Given the description of an element on the screen output the (x, y) to click on. 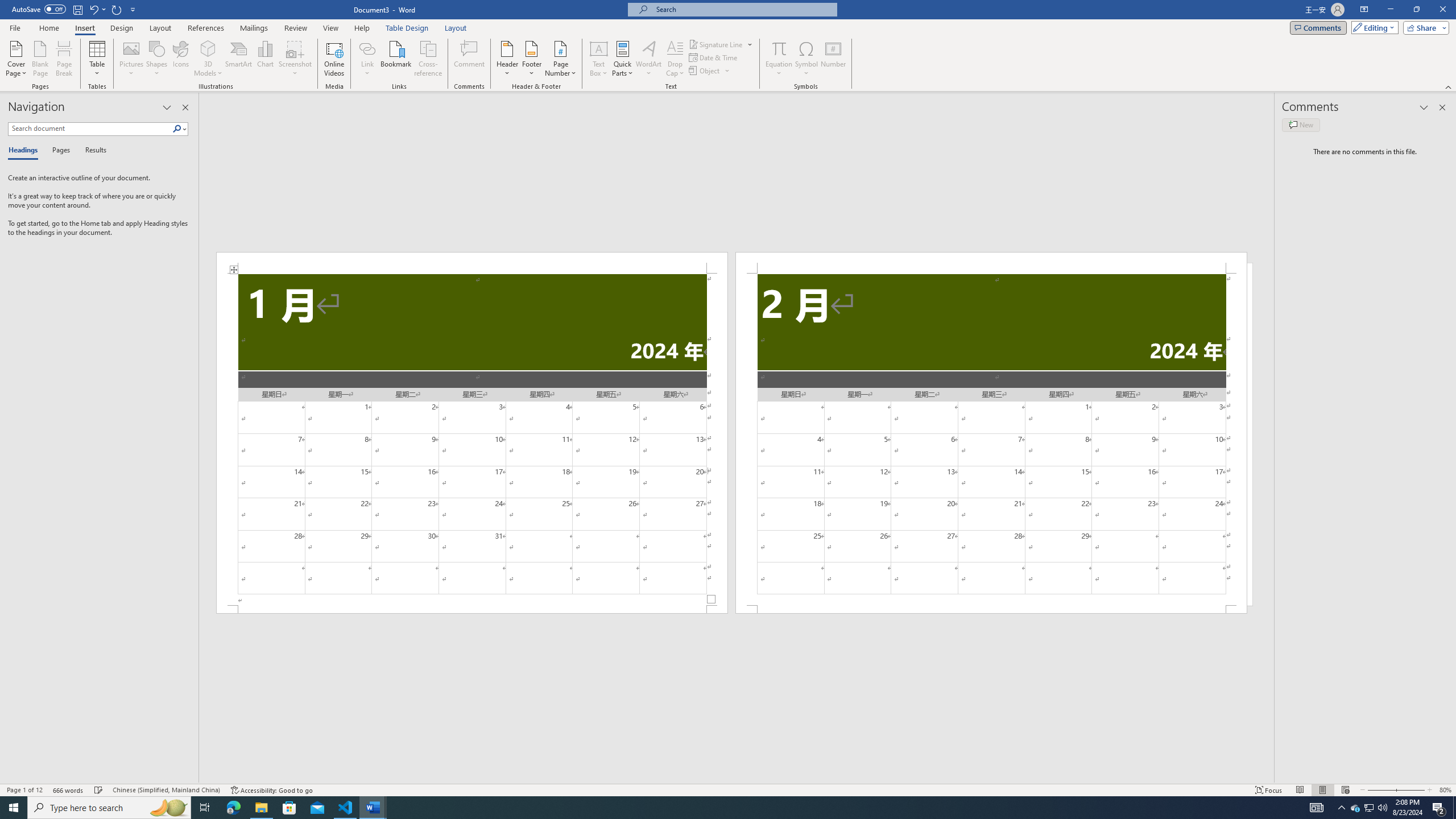
WordArt (648, 58)
Page Number (560, 58)
Equation (778, 58)
